Given the description of an element on the screen output the (x, y) to click on. 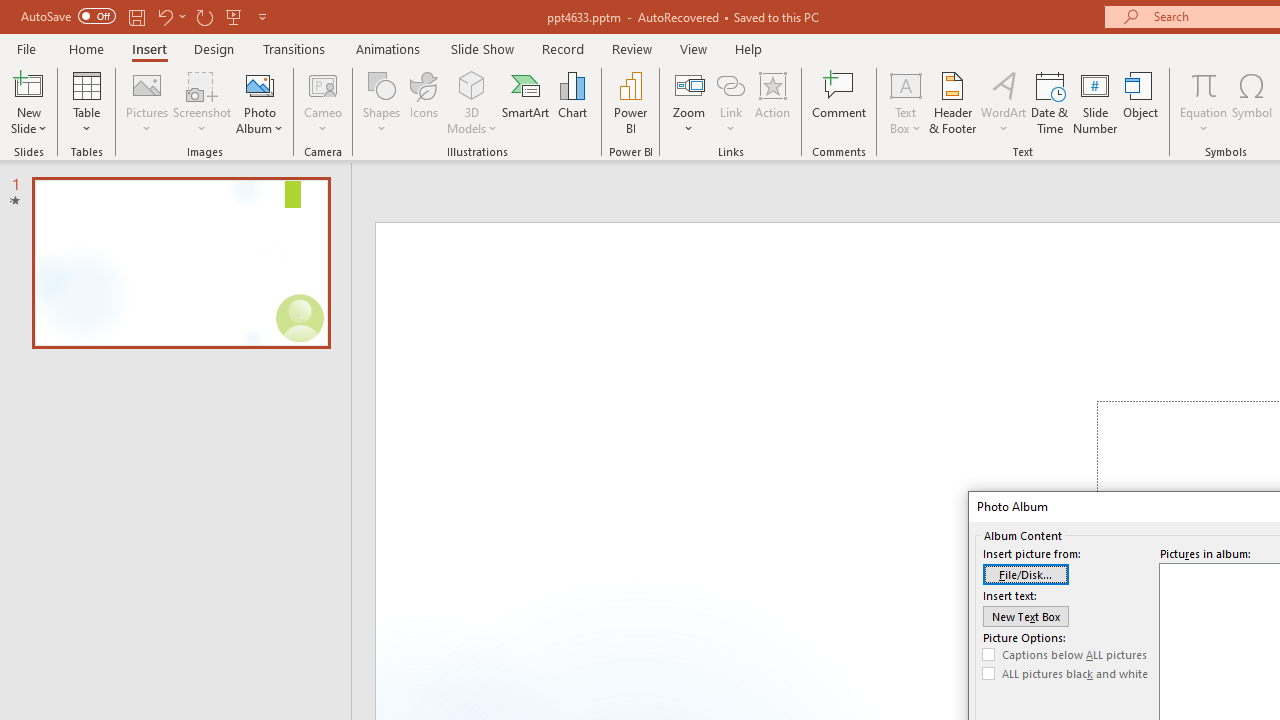
New Text Box (1025, 615)
Date & Time... (1050, 102)
SmartArt... (525, 102)
Table (86, 102)
Link (731, 84)
File/Disk... (1025, 574)
Symbol... (1252, 102)
